Given the description of an element on the screen output the (x, y) to click on. 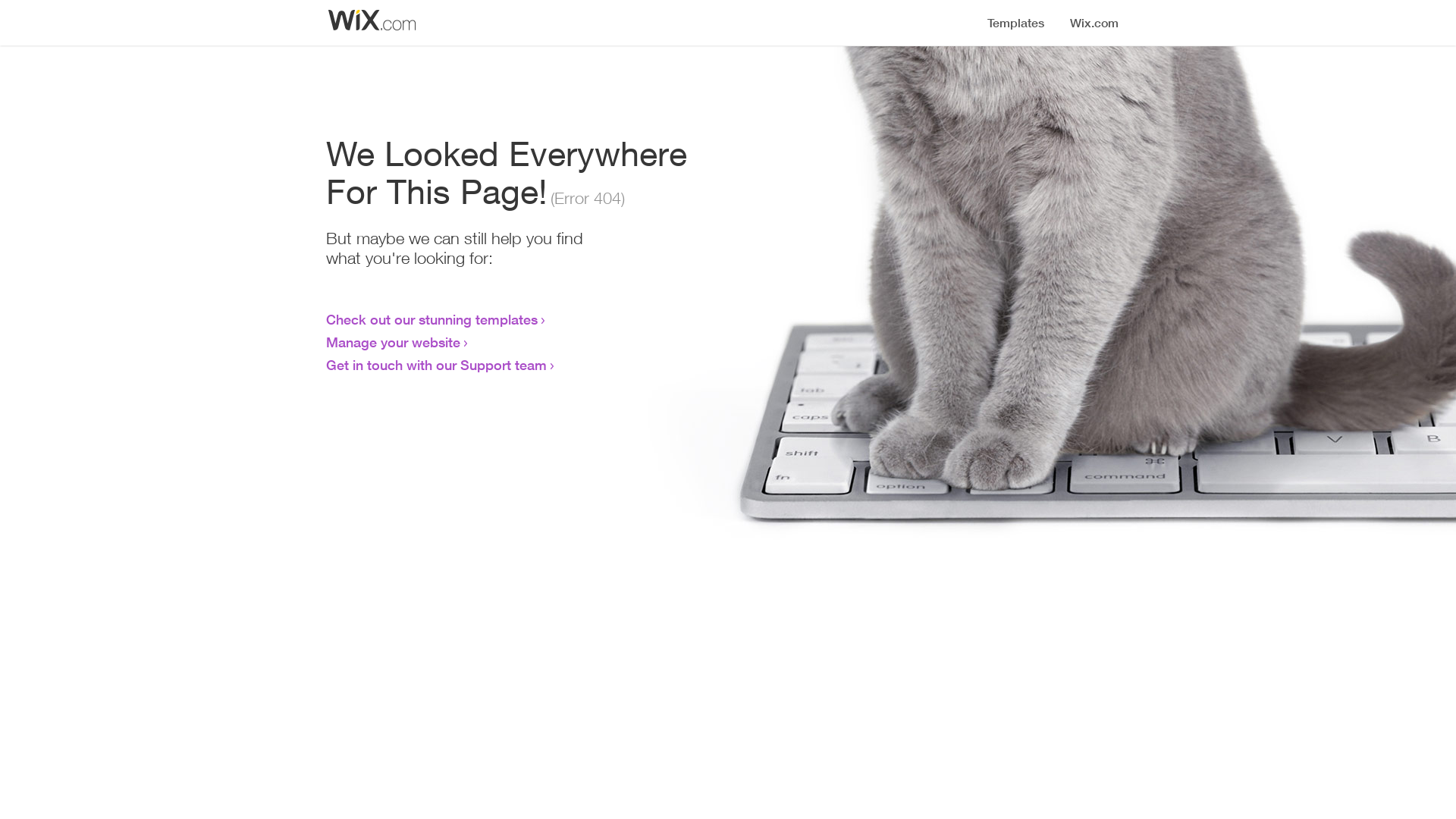
Get in touch with our Support team Element type: text (436, 364)
Check out our stunning templates Element type: text (431, 318)
Manage your website Element type: text (393, 341)
